Given the description of an element on the screen output the (x, y) to click on. 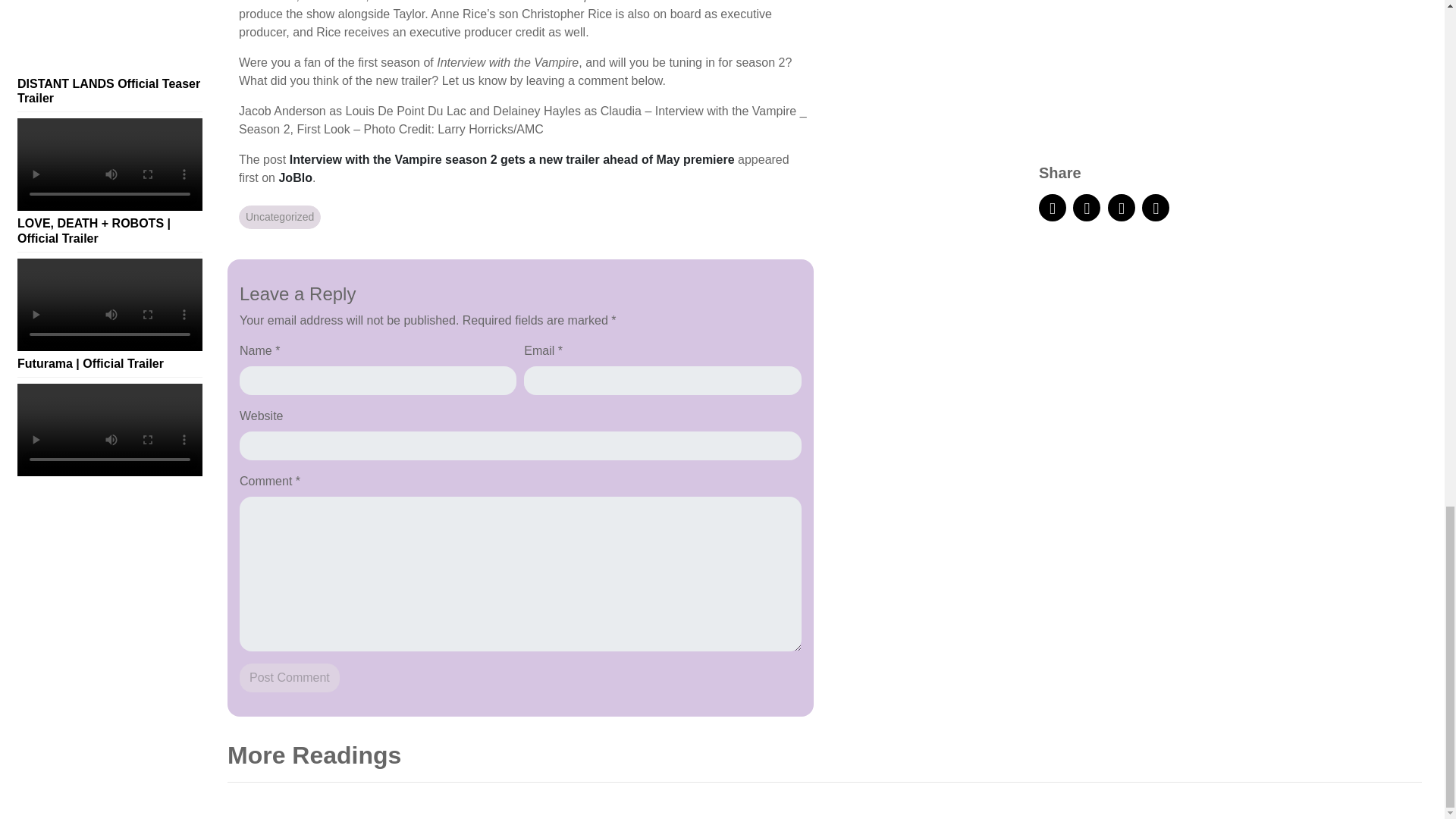
Post Comment (289, 677)
Uncategorized (279, 217)
Post Comment (289, 677)
JoBlo (294, 177)
